Given the description of an element on the screen output the (x, y) to click on. 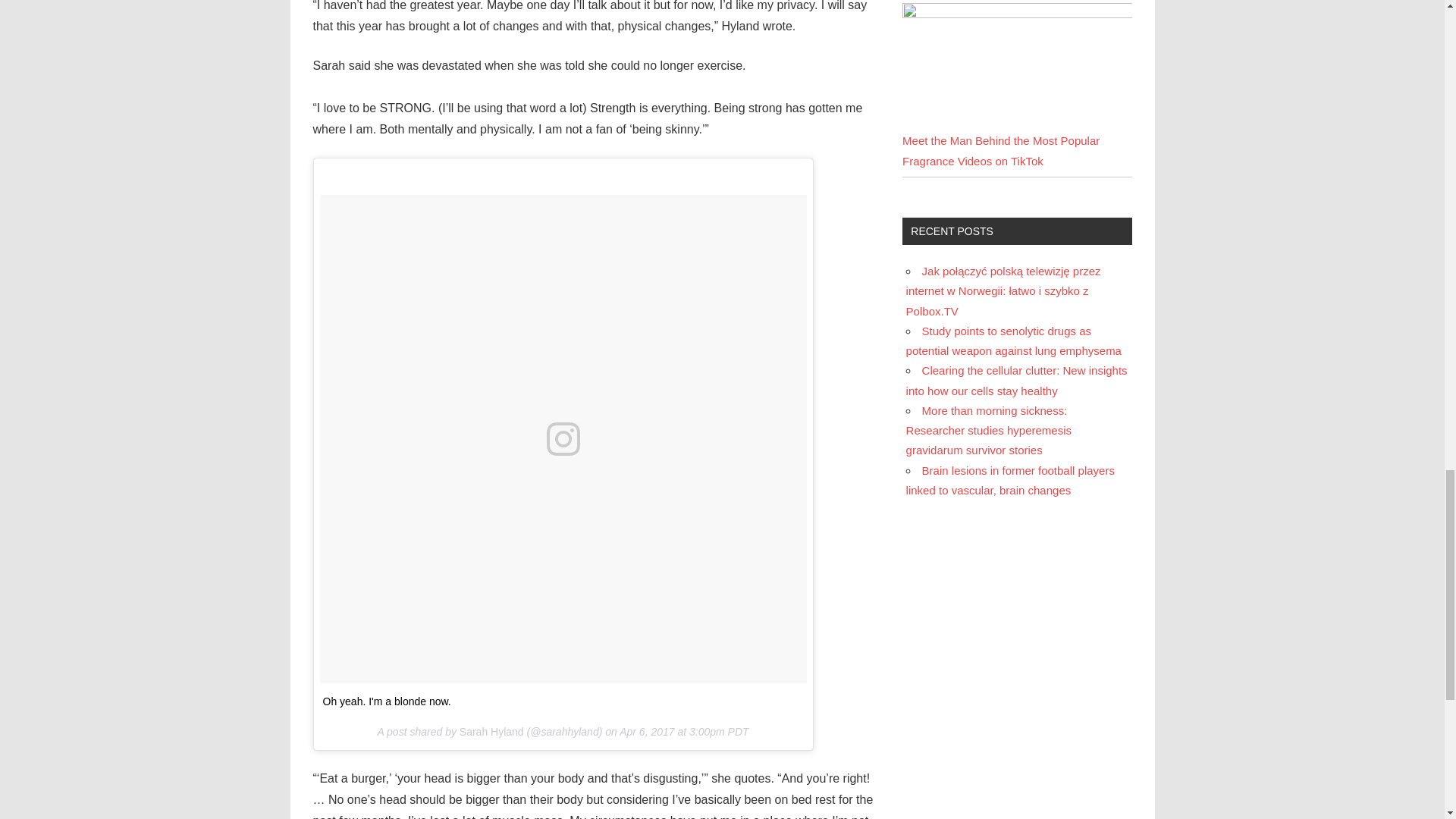
Oh yeah. I'm a blonde now. (387, 701)
Sarah Hyland (492, 731)
